Given the description of an element on the screen output the (x, y) to click on. 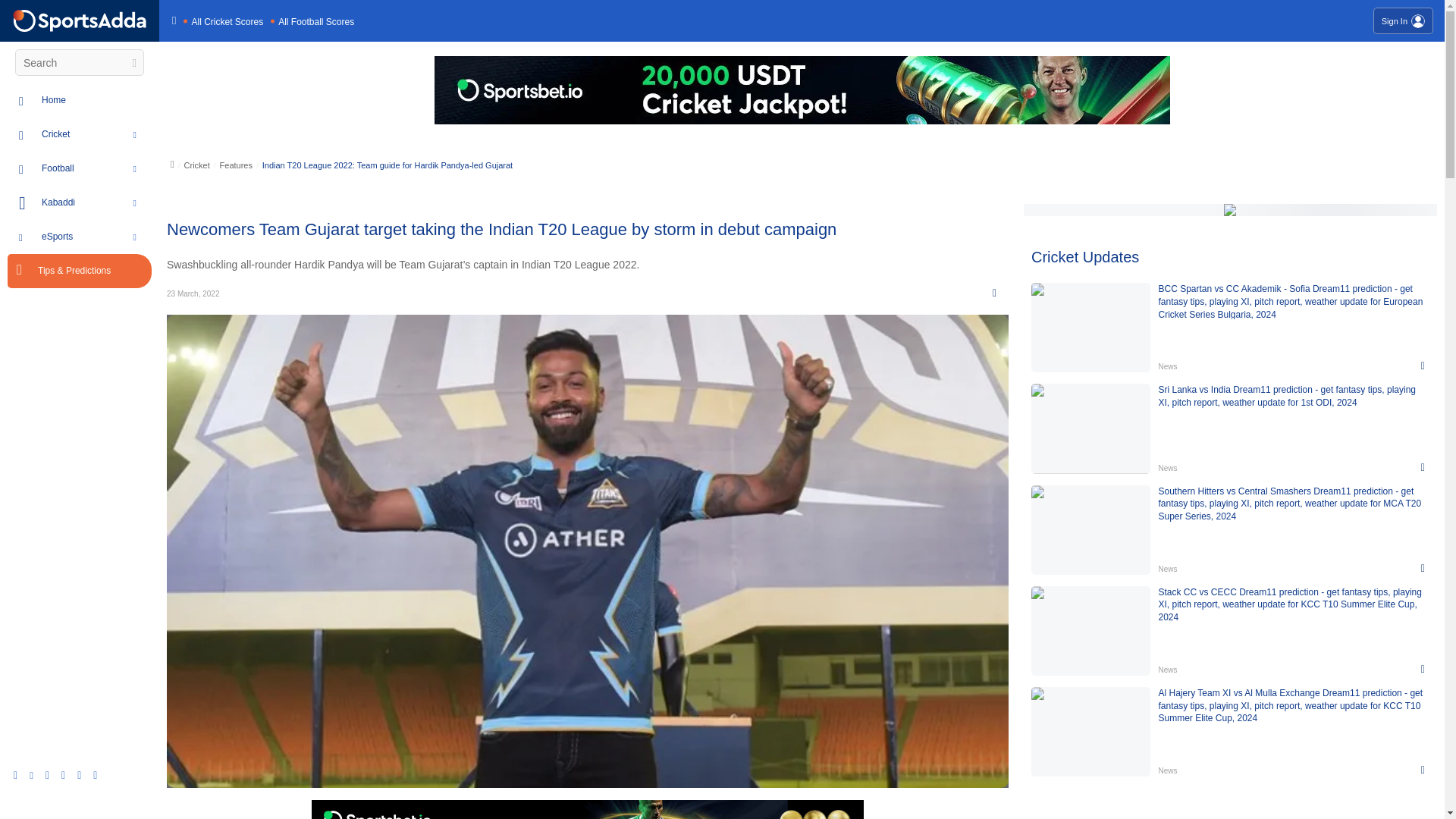
Kabaddi (96, 202)
Master Menu (79, 20)
Cricket (96, 134)
eSports (96, 236)
Search (132, 62)
Home (96, 100)
Football (96, 168)
